Given the description of an element on the screen output the (x, y) to click on. 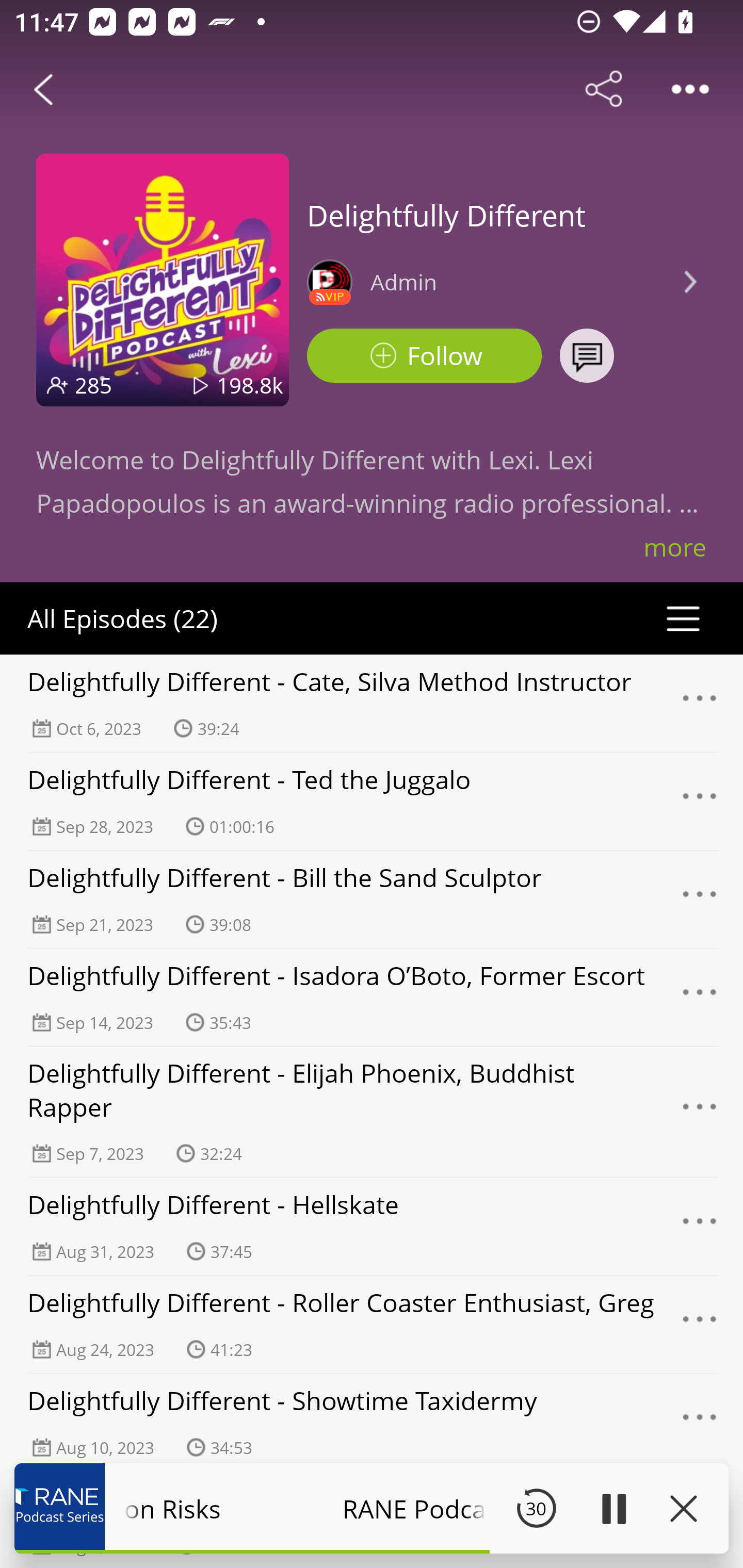
Back (43, 88)
Podbean Follow (423, 355)
285 (93, 384)
more (674, 546)
Menu (699, 703)
Menu (699, 801)
Menu (699, 899)
Menu (699, 997)
Menu (699, 1112)
Menu (699, 1226)
Menu (699, 1324)
Menu (699, 1422)
Play (613, 1507)
30 Seek Backward (536, 1508)
